Given the description of an element on the screen output the (x, y) to click on. 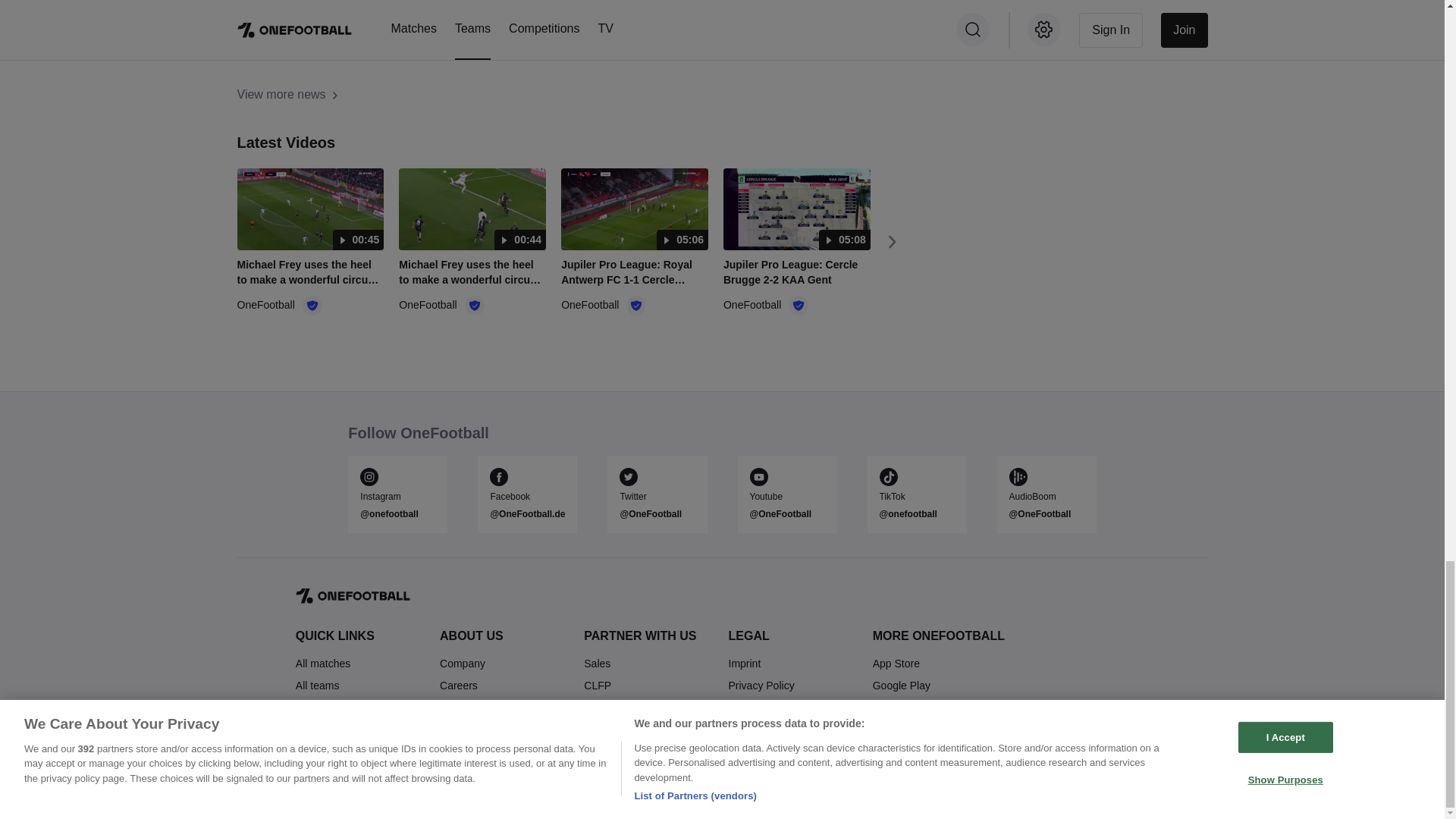
Instagram (397, 496)
Facebook (526, 496)
Twitter (657, 496)
TikTok (917, 496)
Youtube (786, 496)
